Given the description of an element on the screen output the (x, y) to click on. 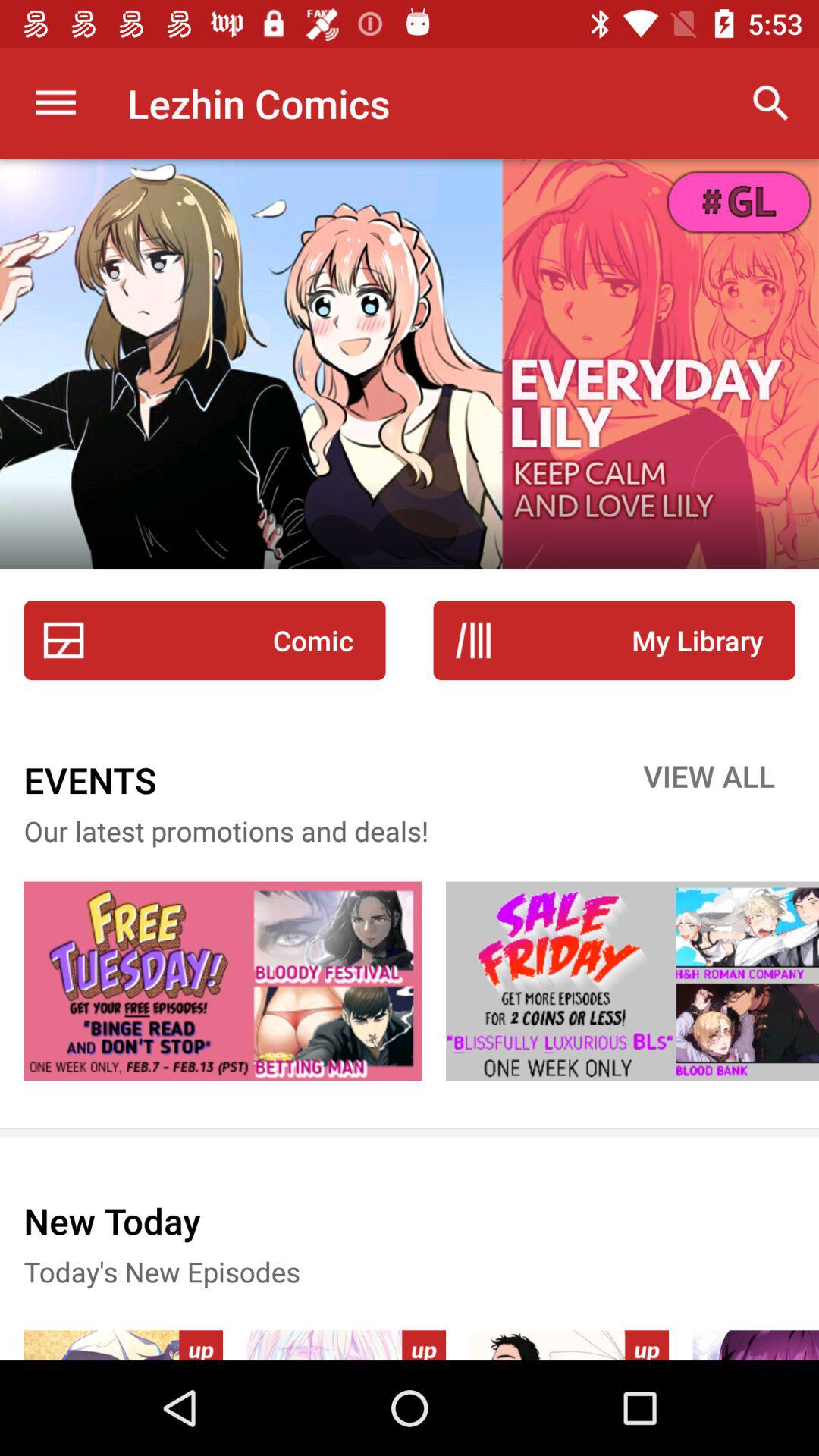
choose the icon to the right of the lezhin comics (771, 103)
